Given the description of an element on the screen output the (x, y) to click on. 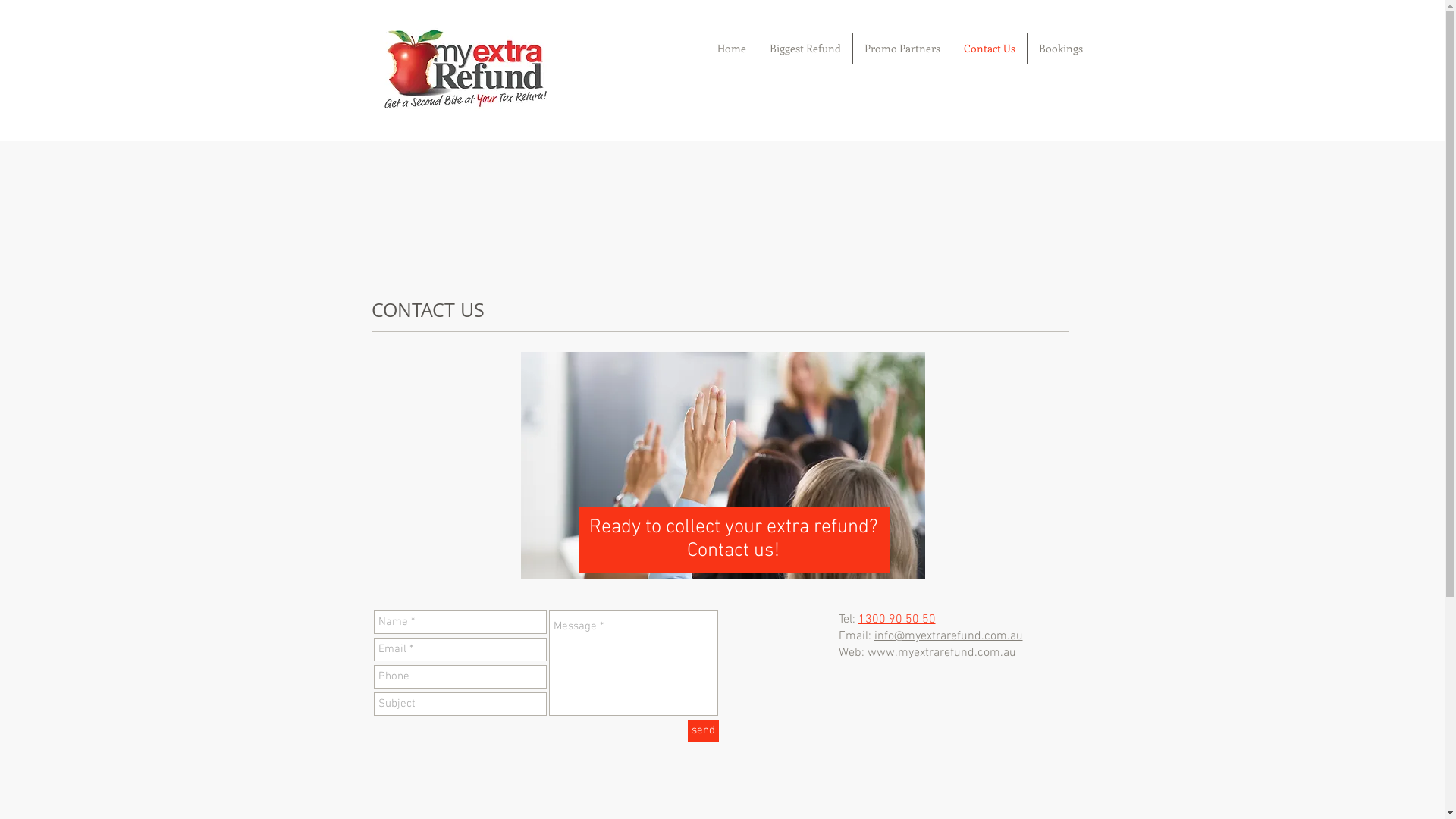
Home Element type: text (730, 48)
info@myextrarefund.com.au Element type: text (947, 635)
Promo Partners Element type: text (901, 48)
www.myextrarefund.com.au Element type: text (941, 652)
Contact Us Element type: text (989, 48)
1300 90 50 50 Element type: text (896, 619)
Bookings Element type: text (1059, 48)
send Element type: text (702, 730)
Biggest Refund Element type: text (805, 48)
